Given the description of an element on the screen output the (x, y) to click on. 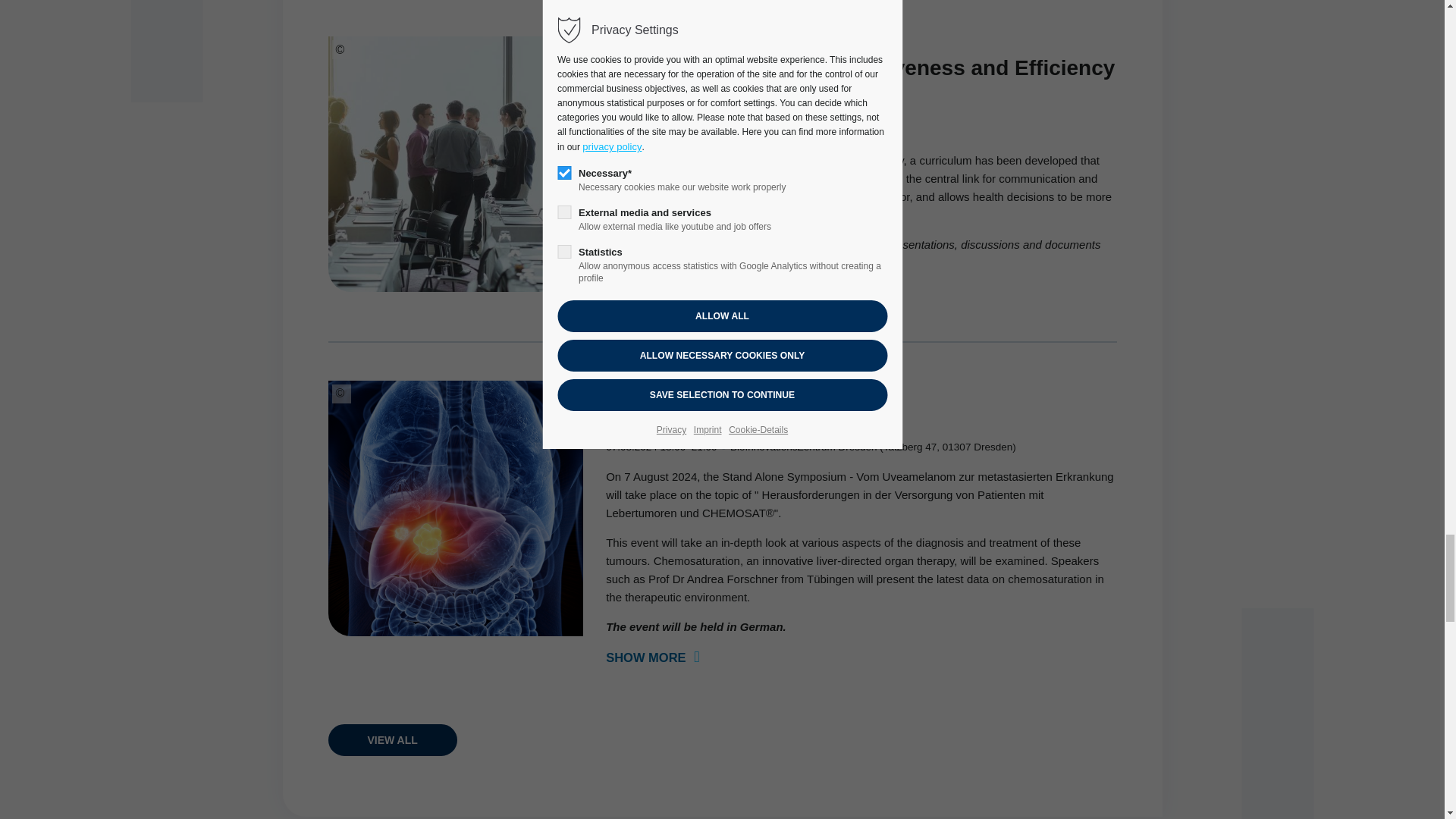
VIEW ALL (392, 739)
Stand alone Symposium (728, 412)
SHOW MORE (651, 293)
SHOW MORE (651, 657)
